Given the description of an element on the screen output the (x, y) to click on. 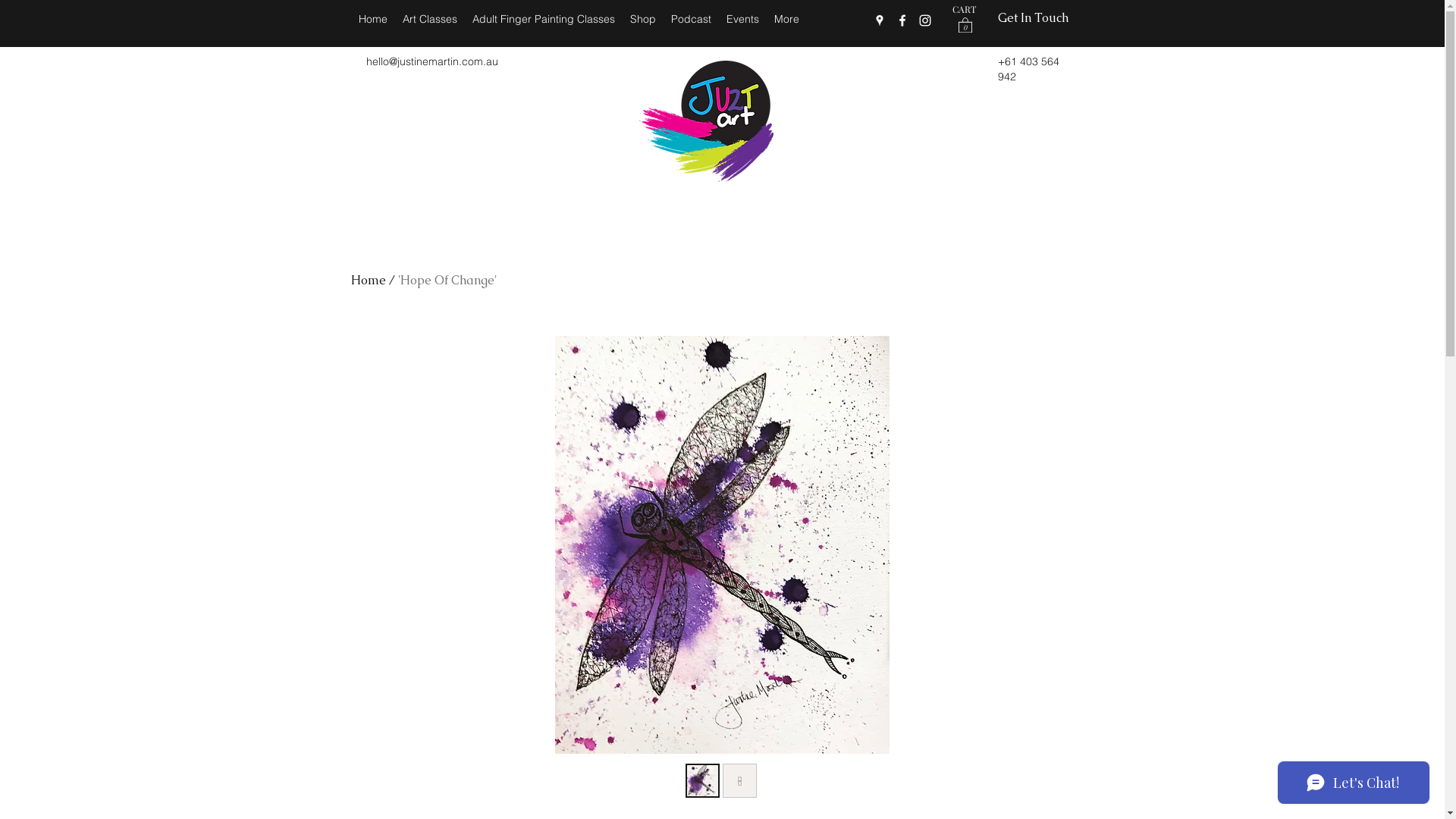
hello@justinemartin.com.au Element type: text (431, 61)
Art Classes Element type: text (429, 19)
Adult Finger Painting Classes Element type: text (542, 19)
Home Element type: text (367, 280)
Home Element type: text (372, 19)
0 Element type: text (965, 24)
Events Element type: text (742, 19)
'Hope Of Change' Element type: text (446, 280)
Shop Element type: text (641, 19)
Get In Touch Element type: text (1032, 18)
Podcast Element type: text (690, 19)
